Given the description of an element on the screen output the (x, y) to click on. 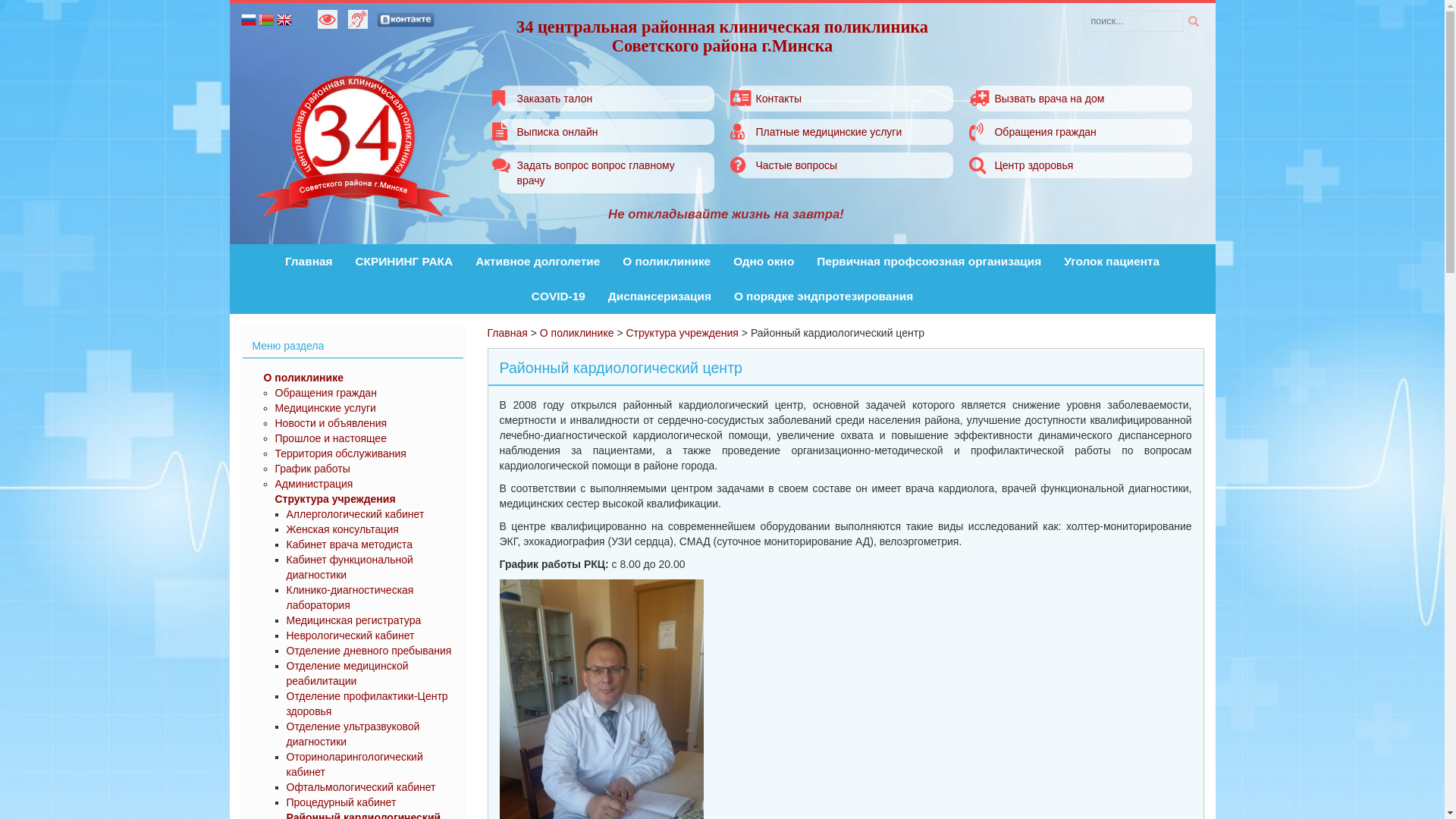
COVID-19 Element type: text (558, 296)
